Given the description of an element on the screen output the (x, y) to click on. 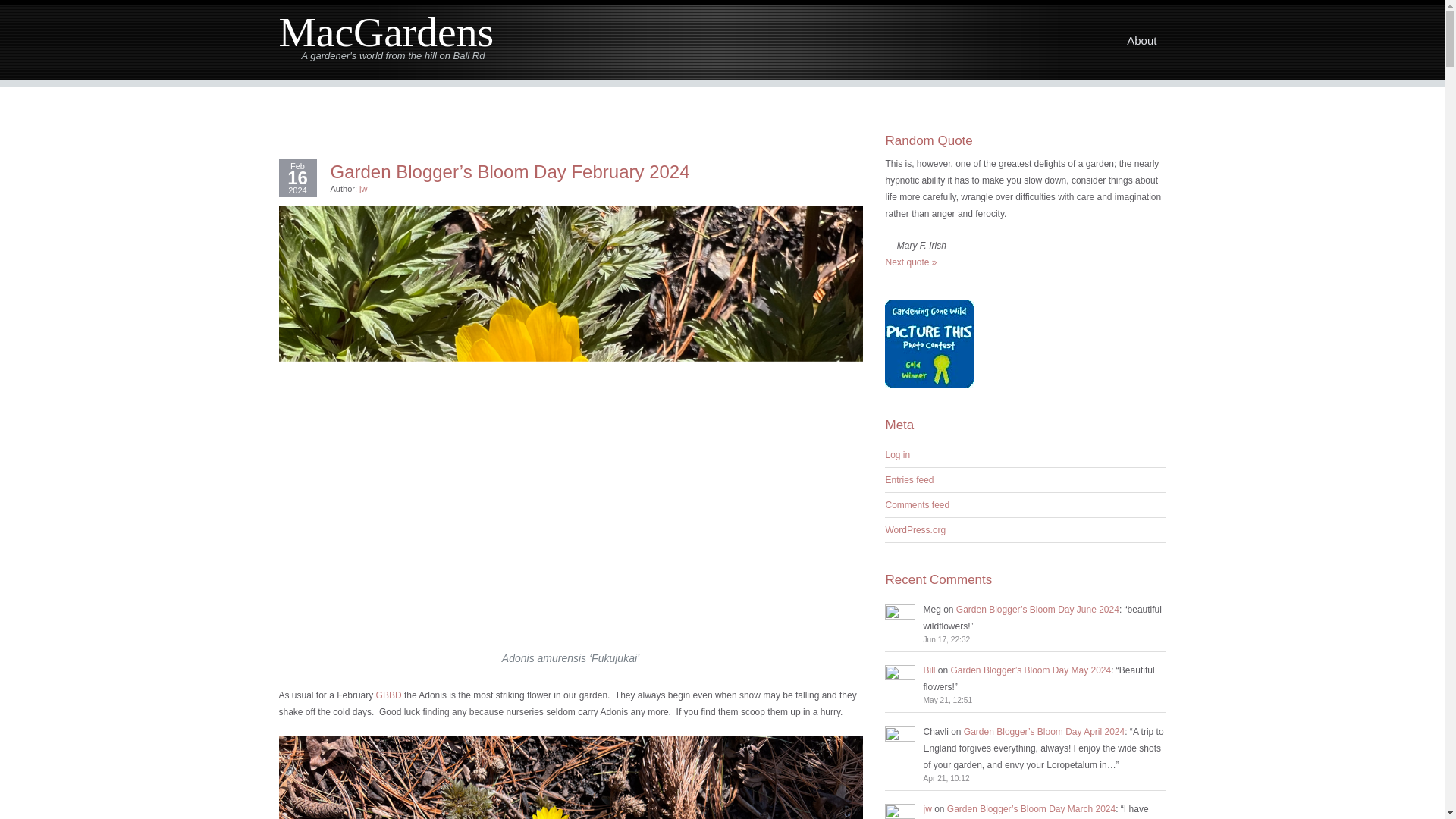
Bill (928, 670)
GBBD (388, 695)
Log in (897, 454)
Comments feed (917, 504)
MacGardens (387, 32)
WordPress.org (914, 529)
About (1142, 40)
MacGardens (387, 32)
Entries feed (909, 480)
